Given the description of an element on the screen output the (x, y) to click on. 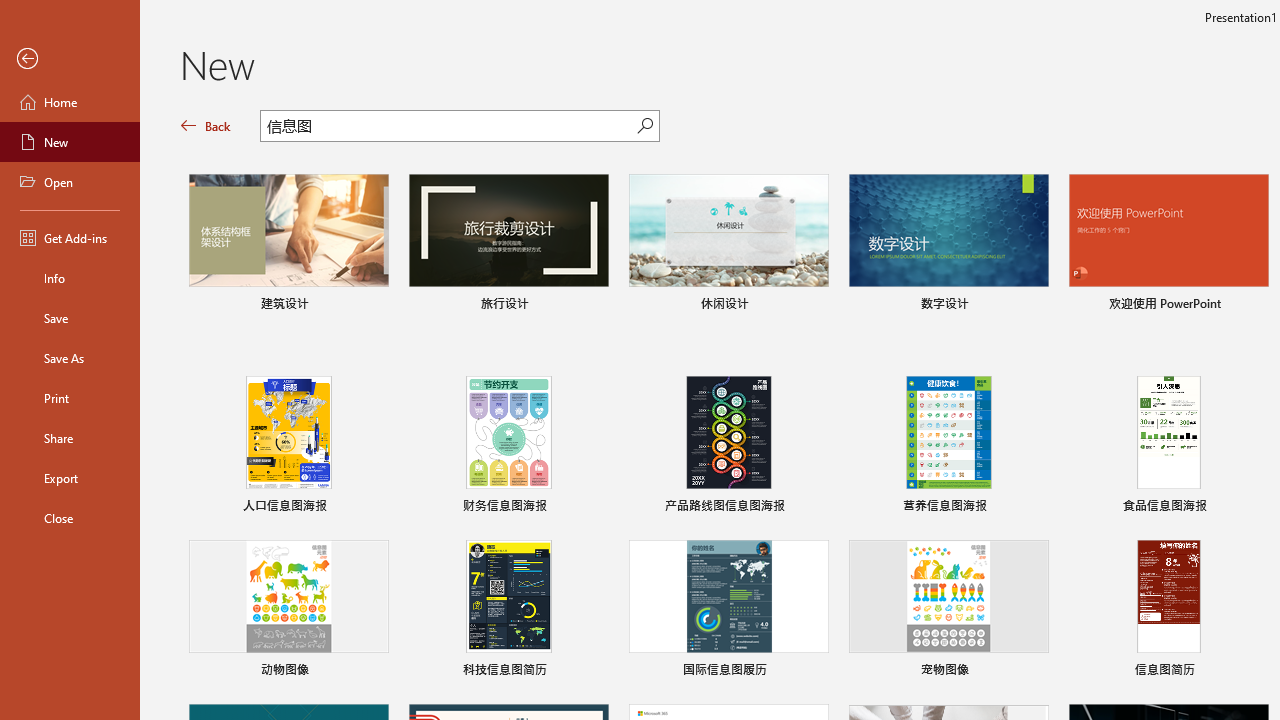
Pin to list (1255, 671)
